Given the description of an element on the screen output the (x, y) to click on. 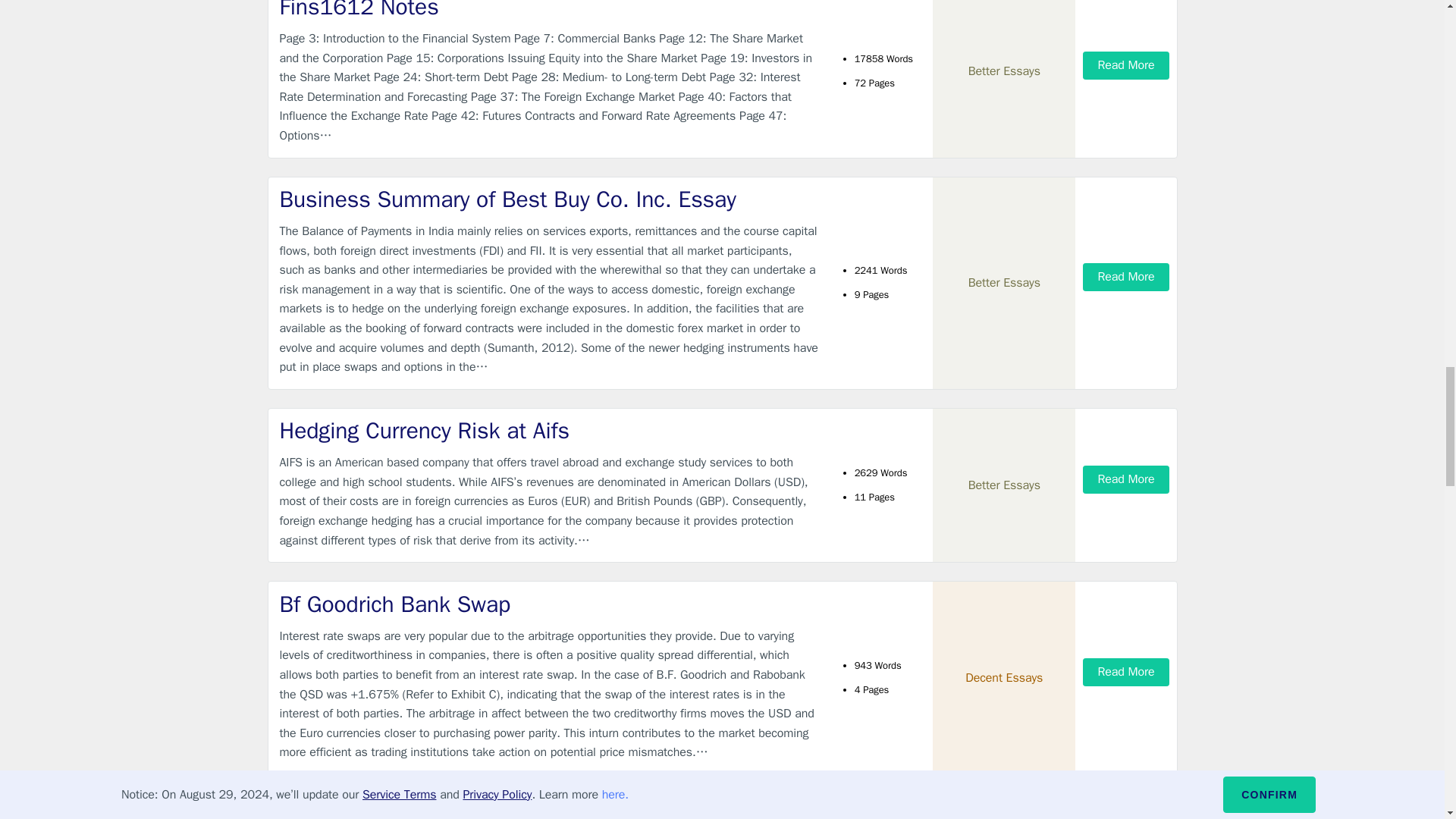
Hedging Currency Risk at Aifs (548, 430)
Read More (1126, 276)
Read More (1126, 479)
Read More (1126, 65)
Carrefour (548, 809)
Bf Goodrich Bank Swap (548, 603)
Read More (1126, 672)
Fins1612 Notes (548, 11)
Business Summary of Best Buy Co. Inc. Essay (548, 199)
